Given the description of an element on the screen output the (x, y) to click on. 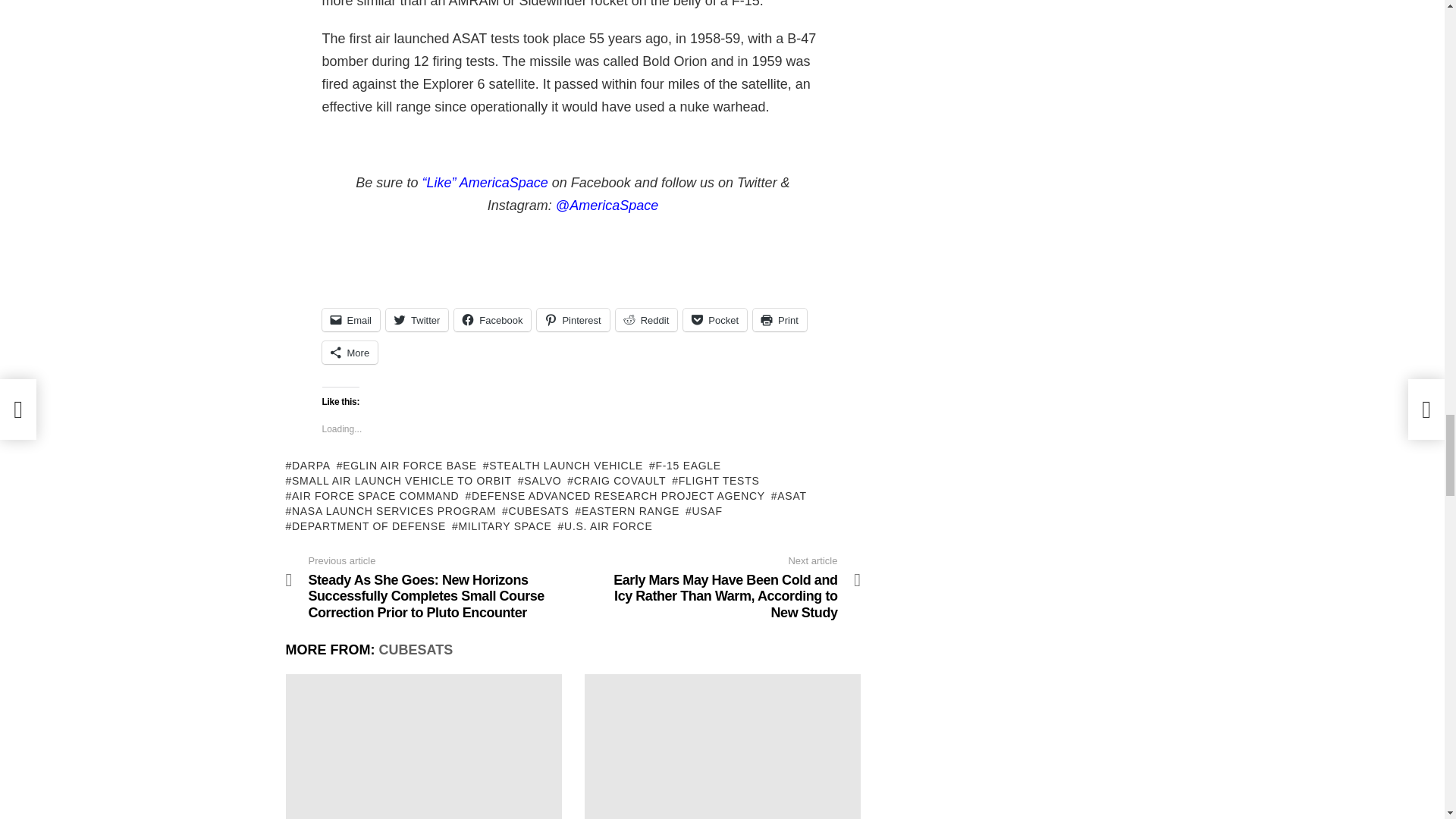
Click to share on Reddit (646, 319)
Click to share on Pinterest (572, 319)
Click to share on Facebook (492, 319)
Click to print (779, 319)
Click to email a link to a friend (350, 319)
Click to share on Pocket (714, 319)
Click to share on Twitter (416, 319)
